Given the description of an element on the screen output the (x, y) to click on. 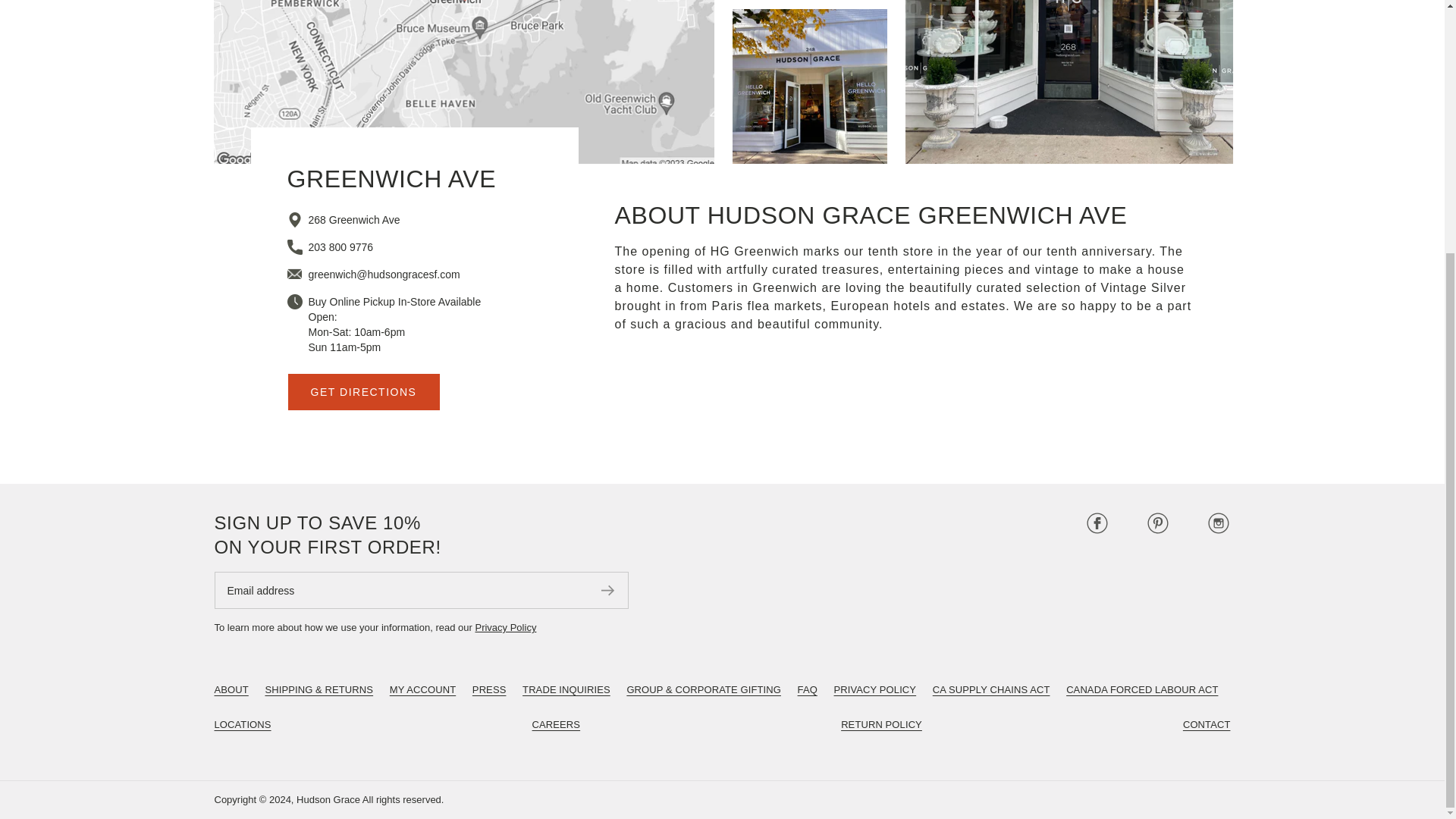
email address (383, 274)
tel number (339, 246)
Privacy Policy (504, 627)
